Given the description of an element on the screen output the (x, y) to click on. 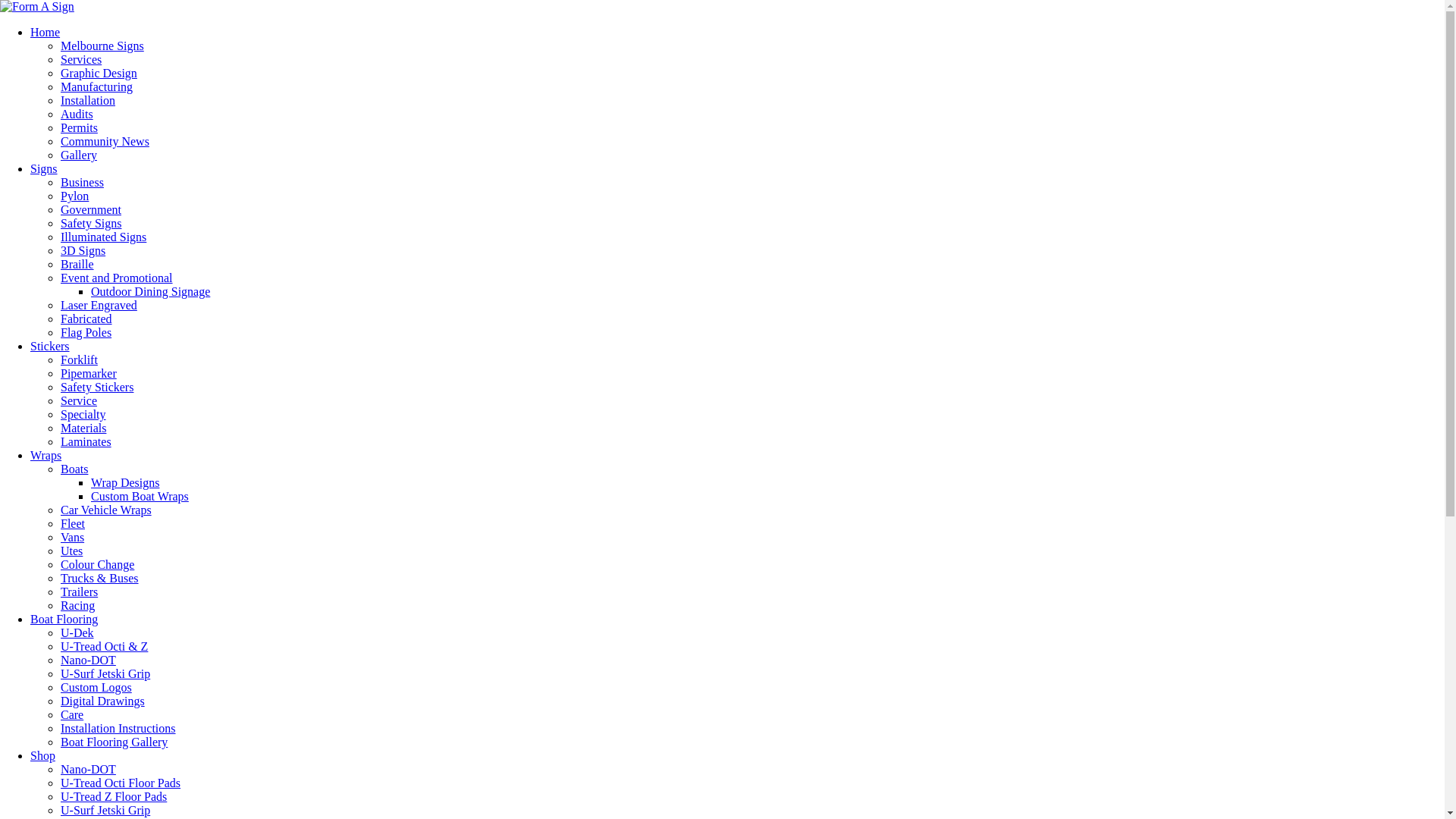
Pylon Element type: text (74, 195)
Forklift Element type: text (78, 359)
Installation Instructions Element type: text (117, 727)
Boats Element type: text (73, 468)
Service Element type: text (78, 400)
Wrap Designs Element type: text (125, 482)
Safety Signs Element type: text (90, 222)
Materials Element type: text (83, 427)
Custom Logos Element type: text (95, 686)
Gallery Element type: text (78, 154)
Car Vehicle Wraps Element type: text (105, 509)
Graphic Design Element type: text (98, 72)
Care Element type: text (71, 714)
Specialty Element type: text (83, 413)
Laser Engraved Element type: text (98, 304)
Fabricated Element type: text (86, 318)
Nano-DOT Element type: text (88, 768)
U-Tread Z Floor Pads Element type: text (113, 796)
Boat Flooring Gallery Element type: text (113, 741)
Event and Promotional Element type: text (116, 277)
Wraps Element type: text (45, 454)
Nano-DOT Element type: text (88, 659)
Home Element type: text (44, 31)
Utes Element type: text (71, 550)
Business Element type: text (81, 181)
Permits Element type: text (78, 127)
Melbourne Signs Element type: text (102, 45)
Racing Element type: text (77, 605)
3D Signs Element type: text (82, 250)
U-Tread Octi & Z Element type: text (103, 646)
Manufacturing Element type: text (96, 86)
Laminates Element type: text (85, 441)
Braille Element type: text (77, 263)
Services Element type: text (80, 59)
Pipemarker Element type: text (88, 373)
Audits Element type: text (76, 113)
U-Tread Octi Floor Pads Element type: text (120, 782)
Community News Element type: text (104, 140)
Illuminated Signs Element type: text (103, 236)
Signs Element type: text (43, 168)
U-Surf Jetski Grip Element type: text (105, 673)
Installation Element type: text (87, 100)
Stickers Element type: text (49, 345)
Shop Element type: text (42, 755)
Fleet Element type: text (72, 523)
Trailers Element type: text (78, 591)
U-Surf Jetski Grip Element type: text (105, 809)
Colour Change Element type: text (97, 564)
Trucks & Buses Element type: text (99, 577)
U-Dek Element type: text (77, 632)
Custom Boat Wraps Element type: text (139, 495)
Government Element type: text (90, 209)
Digital Drawings Element type: text (102, 700)
Boat Flooring Element type: text (63, 618)
Flag Poles Element type: text (85, 332)
Safety Stickers Element type: text (96, 386)
Outdoor Dining Signage Element type: text (150, 291)
Vans Element type: text (72, 536)
